Given the description of an element on the screen output the (x, y) to click on. 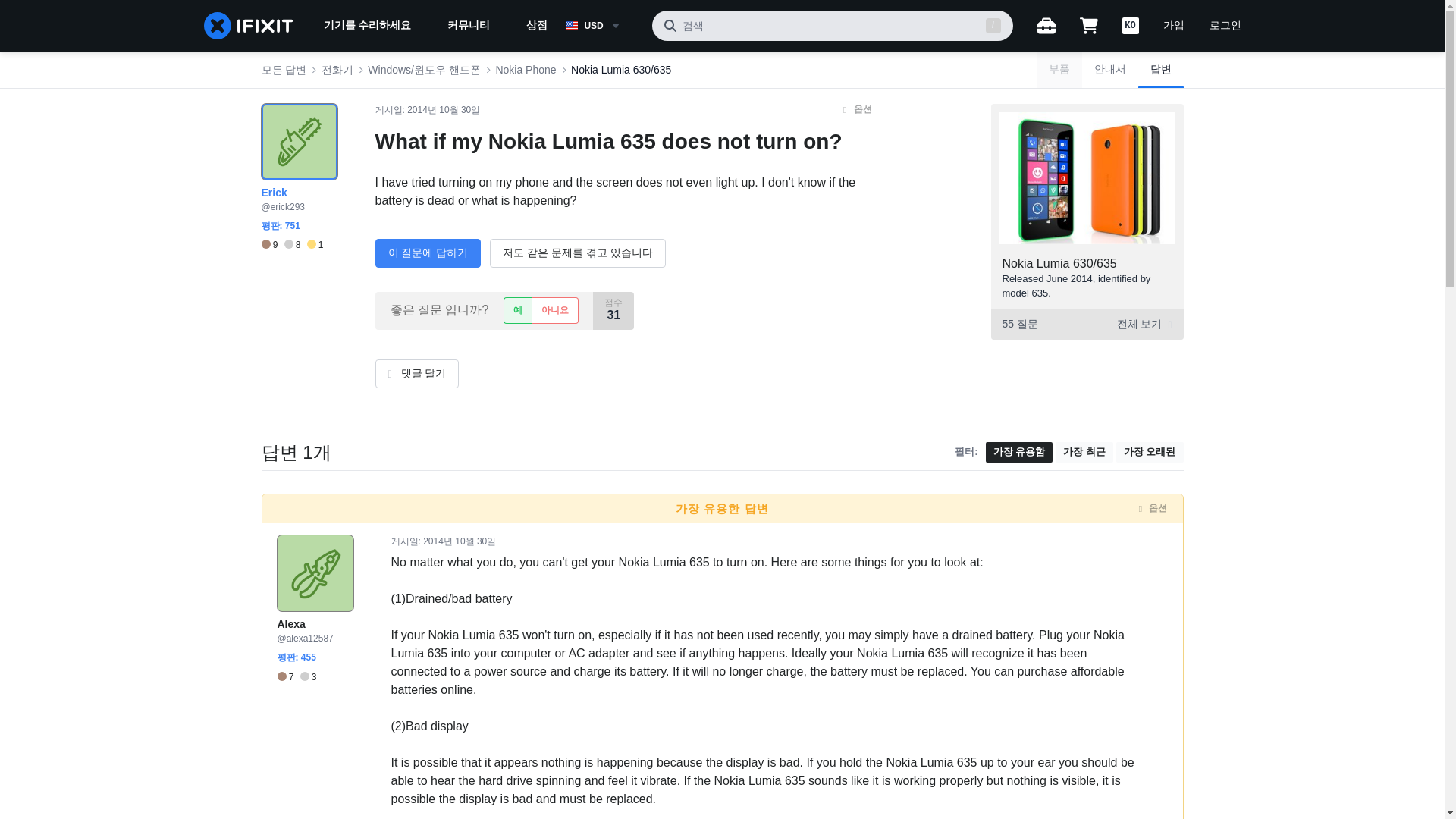
9 8 1 (291, 245)
Thu, 30 Oct 2014 13:21:05 -0700 (459, 541)
Nokia Phone (525, 69)
Thu, 30 Oct 2014 13:12:21 -0700 (443, 109)
USD (602, 25)
